Given the description of an element on the screen output the (x, y) to click on. 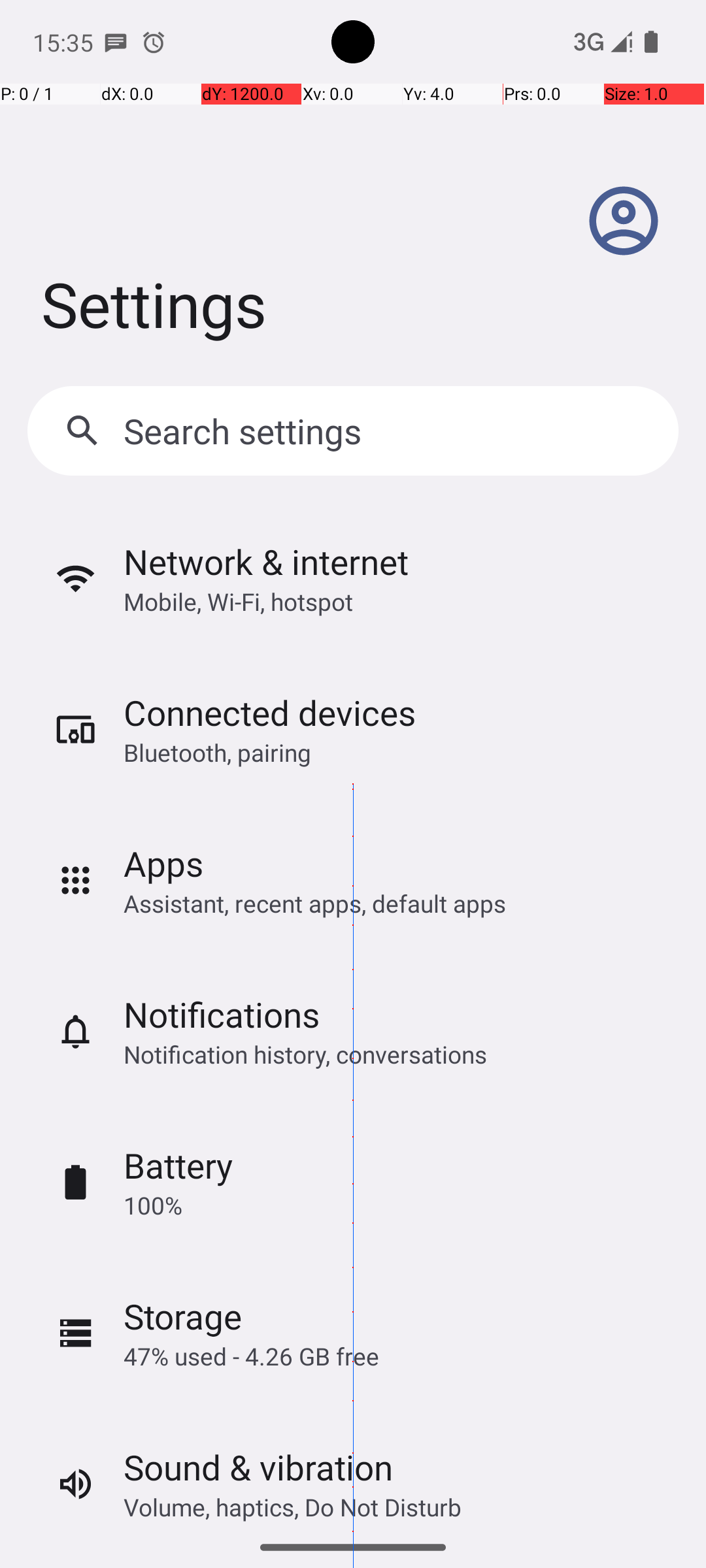
47% used - 4.26 GB free Element type: android.widget.TextView (251, 1355)
